Given the description of an element on the screen output the (x, y) to click on. 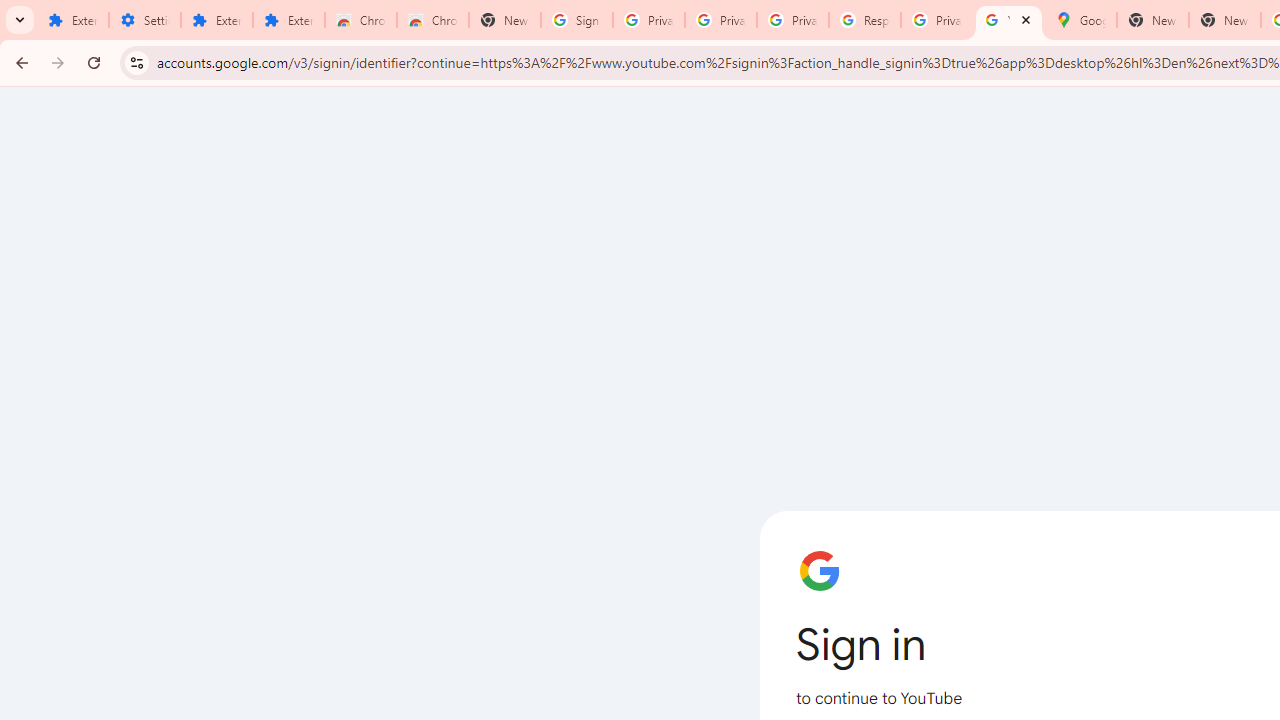
Google Maps (1080, 20)
New Tab (1224, 20)
Sign in - Google Accounts (577, 20)
Extensions (216, 20)
YouTube (1008, 20)
Extensions (289, 20)
